Given the description of an element on the screen output the (x, y) to click on. 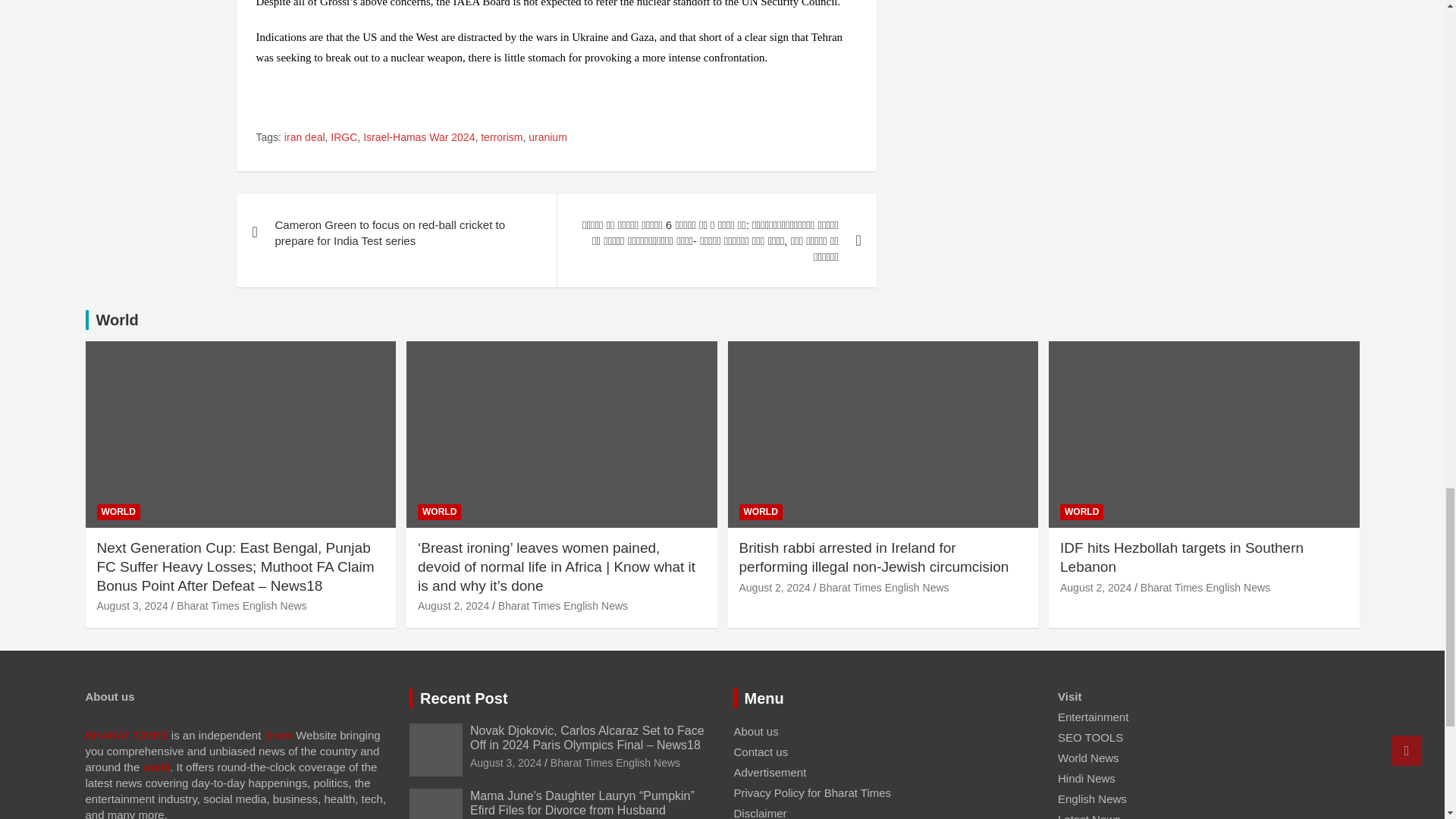
IRGC (343, 137)
iran deal (303, 137)
Israel-Hamas War 2024 (418, 137)
terrorism (501, 137)
uranium (547, 137)
IDF hits Hezbollah targets in Southern Lebanon (1095, 587)
